Given the description of an element on the screen output the (x, y) to click on. 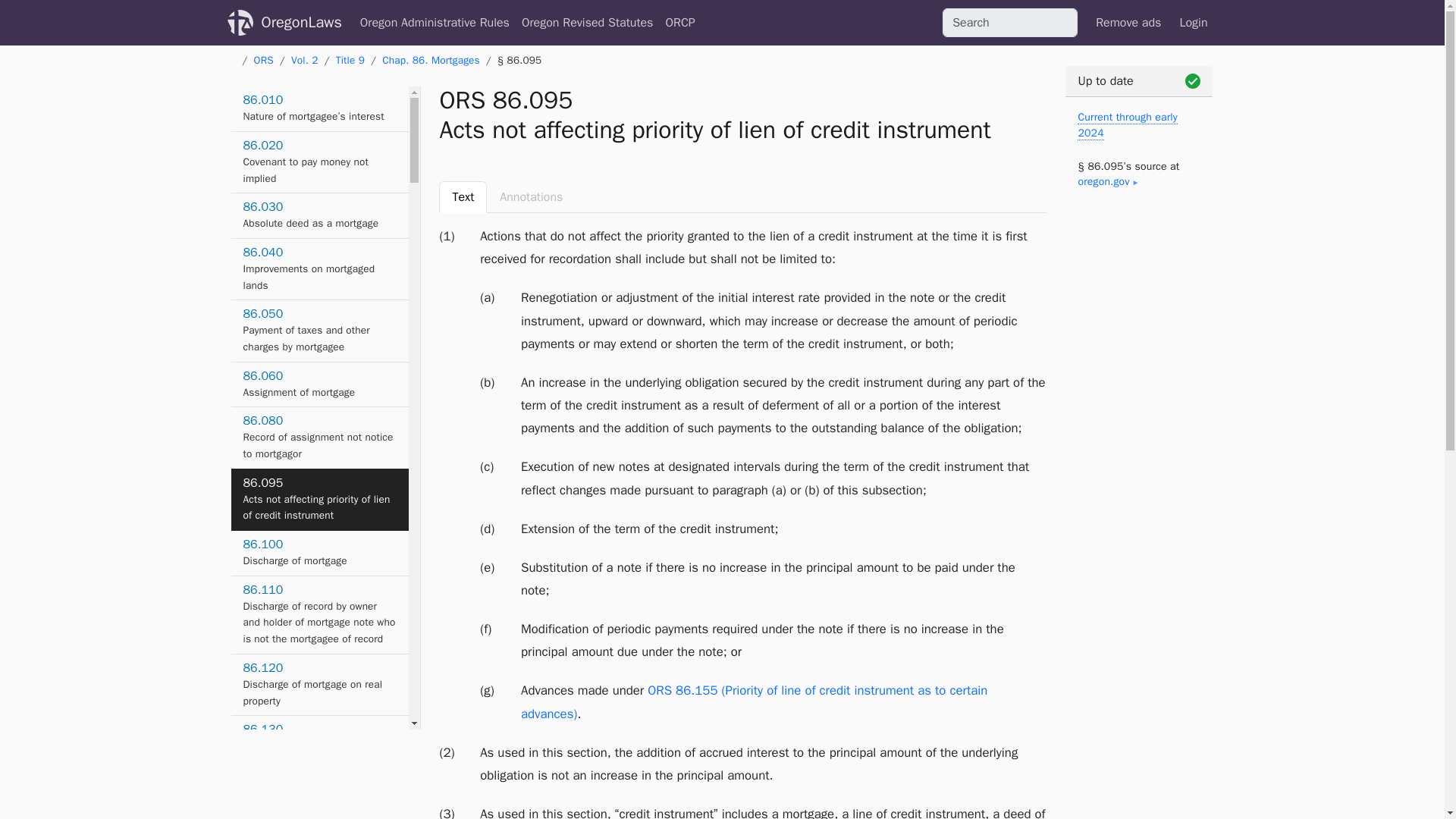
Advertisement (1138, 767)
Annotations (530, 196)
Chap. 86. Mortgages (319, 553)
ORCP (430, 60)
Remove ads (679, 22)
Oregon Administrative Rules (1128, 22)
